Given the description of an element on the screen output the (x, y) to click on. 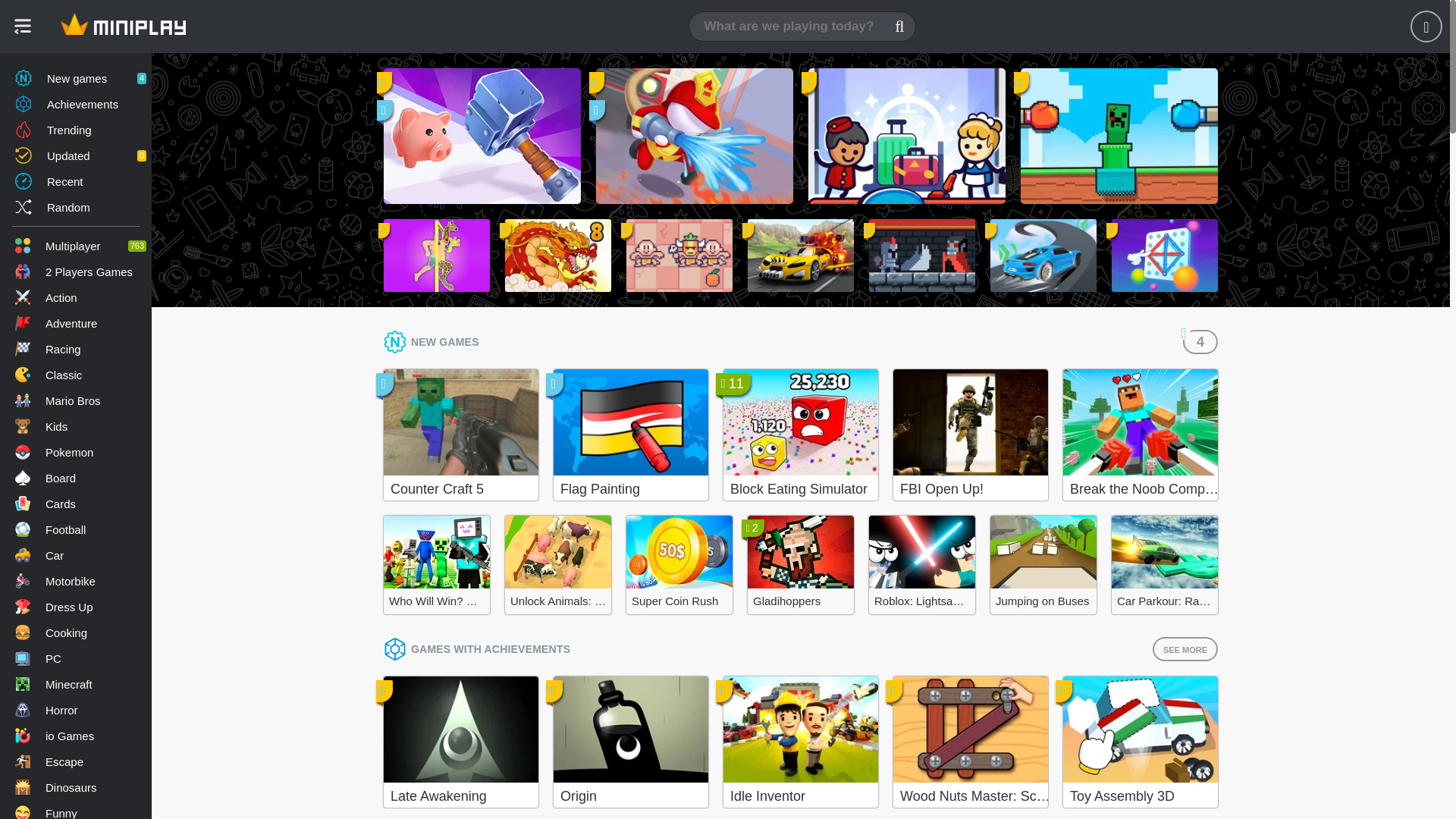
New games (75, 77)
Cooking (75, 632)
Achievements (75, 103)
Mario Bros (75, 400)
Achievements (75, 155)
Action Games (75, 103)
Recent (75, 297)
Recent (75, 181)
Cards (75, 181)
